Given the description of an element on the screen output the (x, y) to click on. 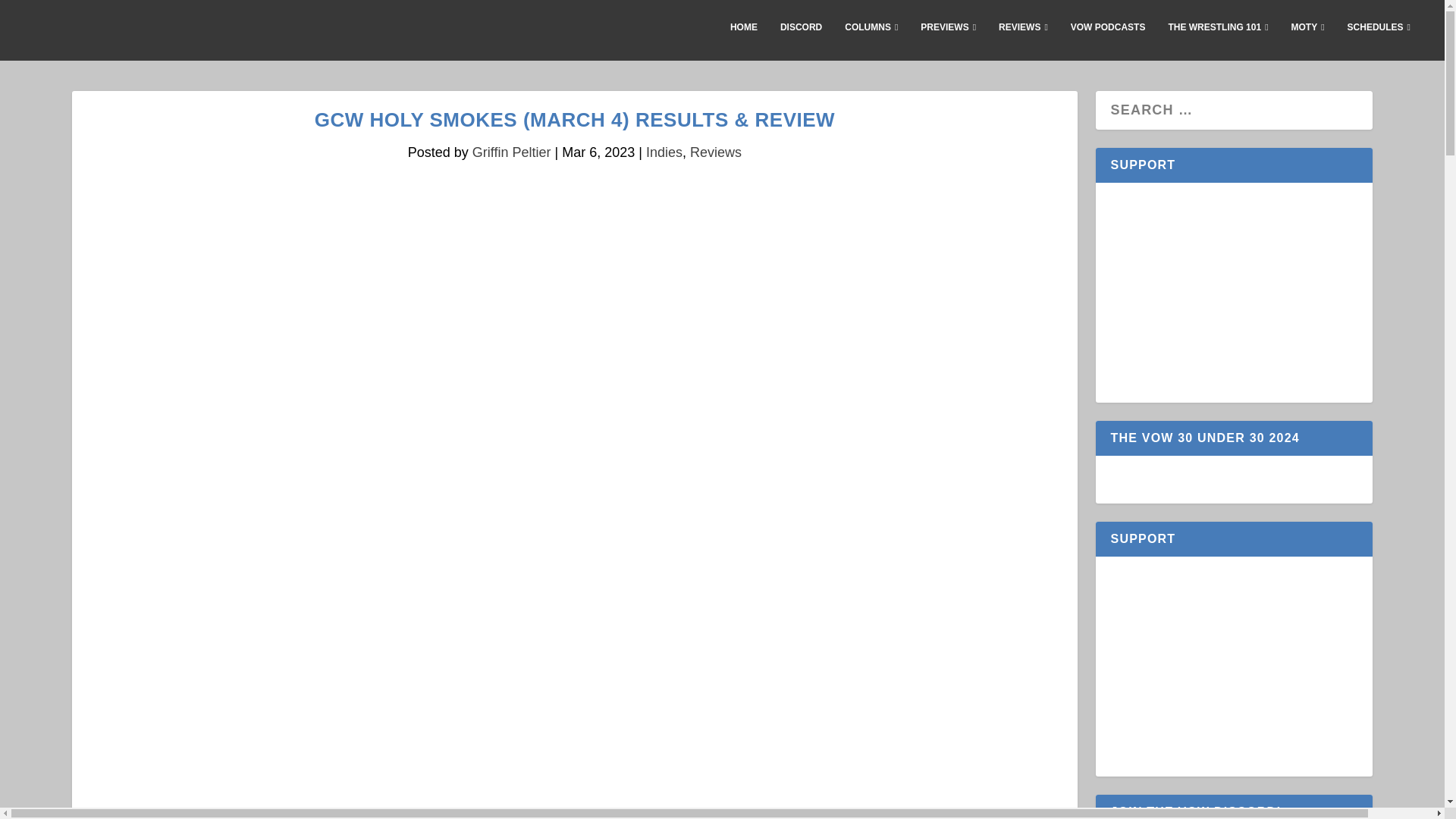
VOW PODCASTS (1107, 39)
PREVIEWS (947, 39)
Posts by Griffin Peltier (511, 151)
THE WRESTLING 101 (1217, 39)
DISCORD (801, 39)
COLUMNS (871, 39)
REVIEWS (1023, 39)
